Given the description of an element on the screen output the (x, y) to click on. 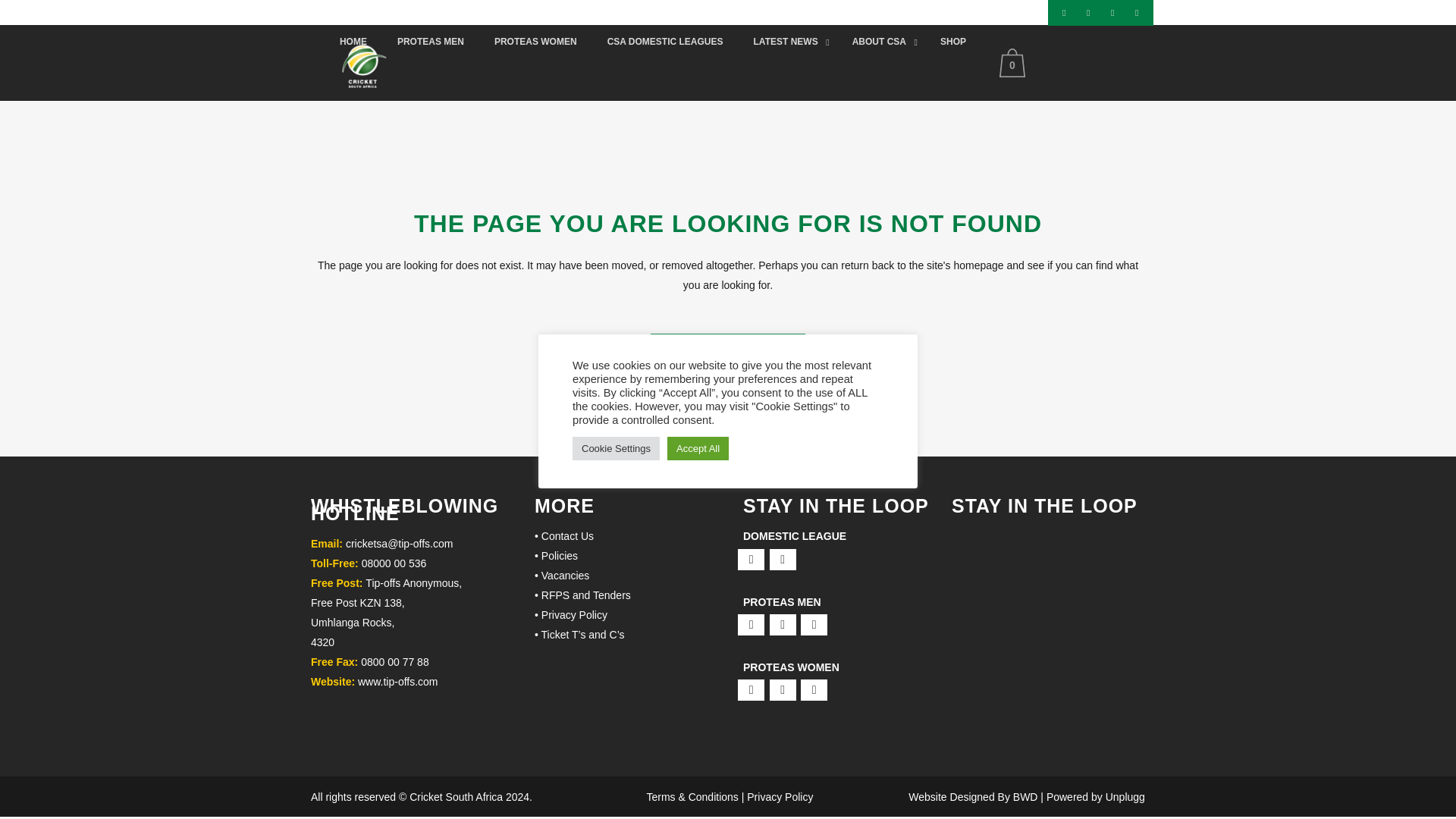
HOME (352, 42)
SHOP (952, 42)
CSA DOMESTIC LEAGUES (665, 42)
BACK TO HOMEPAGE (727, 349)
PROTEAS WOMEN (535, 42)
ABOUT CSA (880, 42)
LATEST NEWS (787, 42)
PROTEAS MEN (430, 42)
0 (1015, 62)
